Given the description of an element on the screen output the (x, y) to click on. 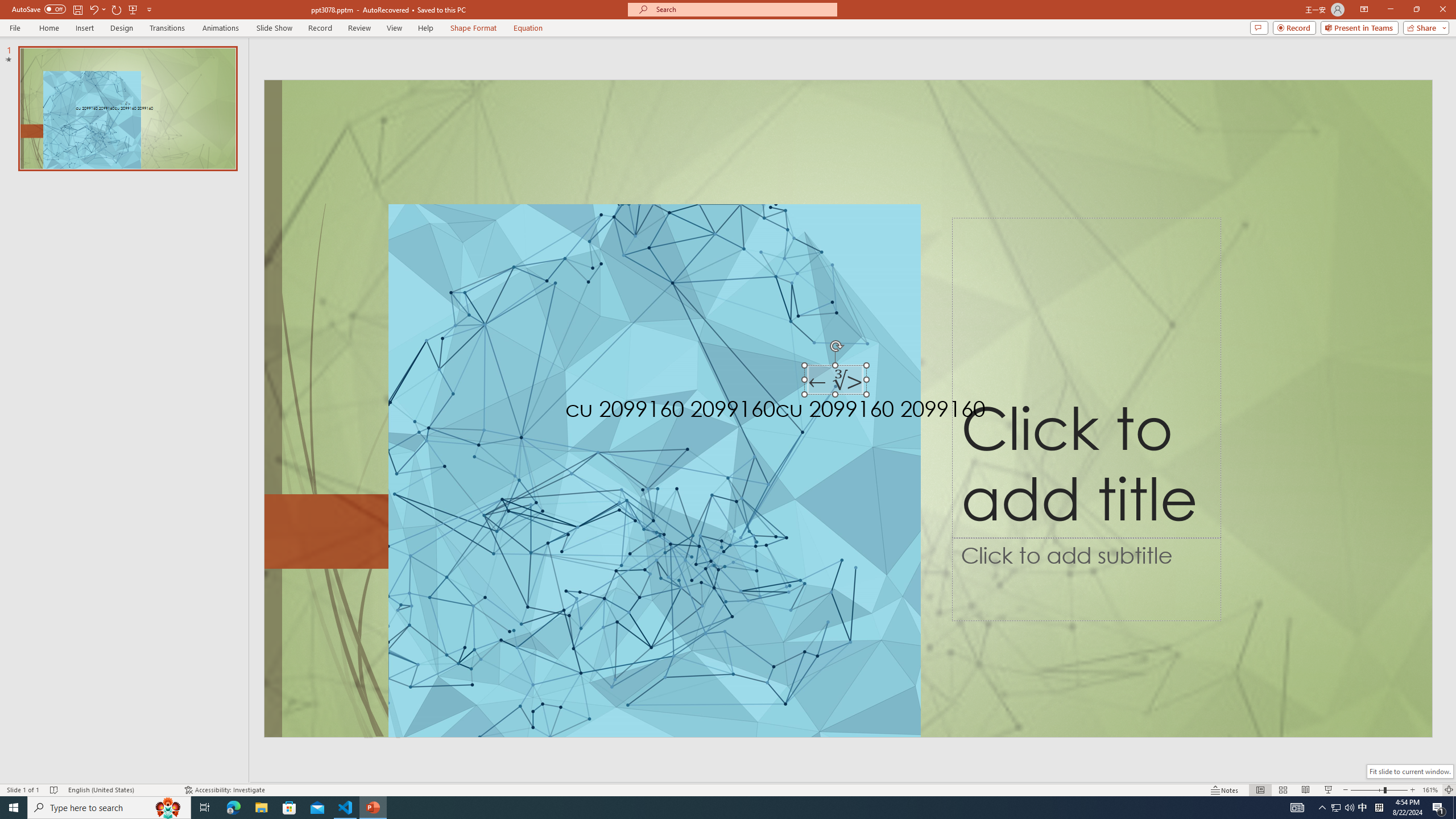
Zoom 161% (1430, 790)
